Given the description of an element on the screen output the (x, y) to click on. 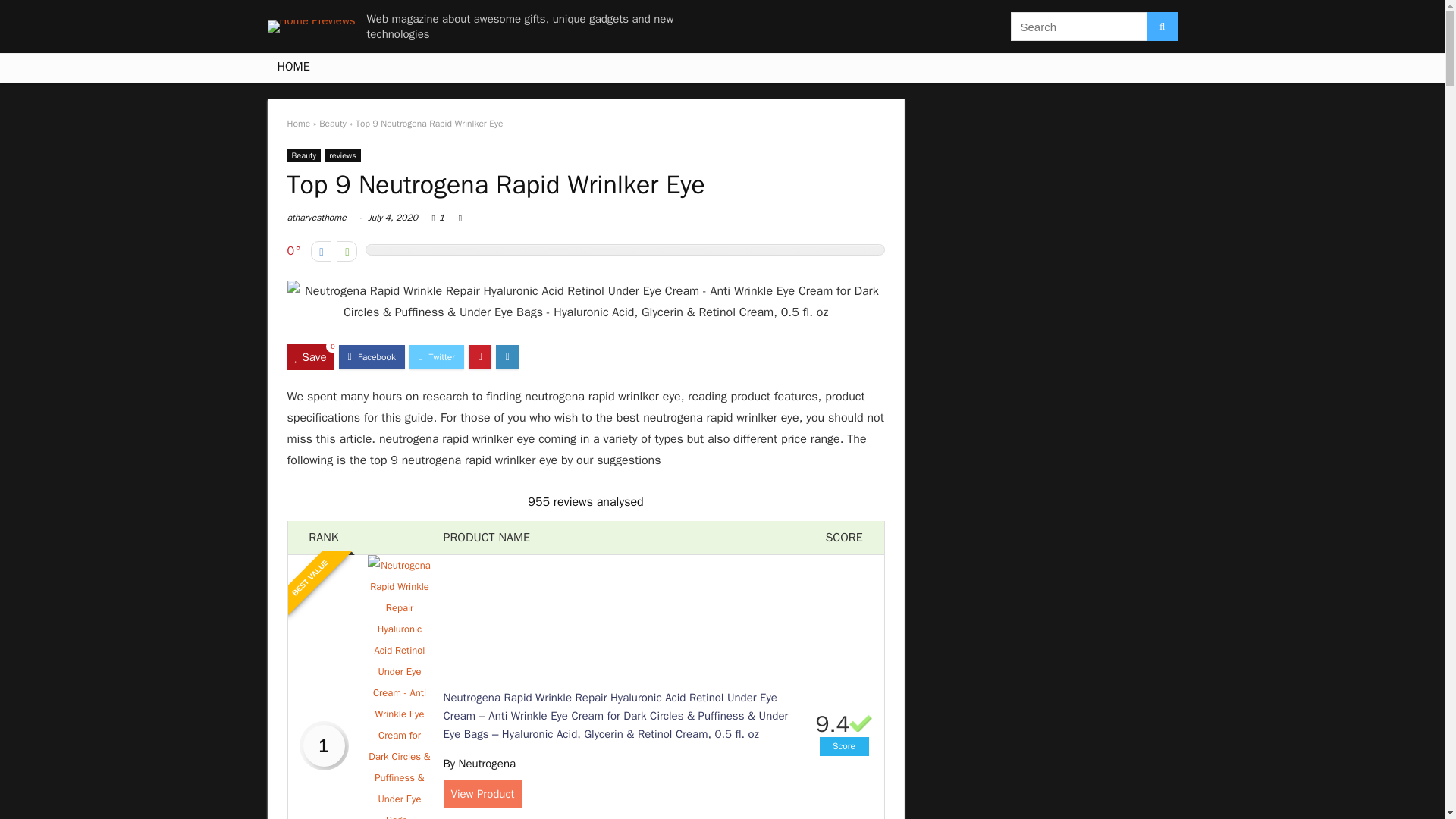
reviews (342, 155)
View Product (481, 793)
Vote down (321, 250)
View all posts in reviews (342, 155)
By Neutrogena (478, 763)
View all posts in Beauty (303, 155)
Beauty (332, 123)
HOME (292, 68)
Home (298, 123)
Beauty (303, 155)
